Given the description of an element on the screen output the (x, y) to click on. 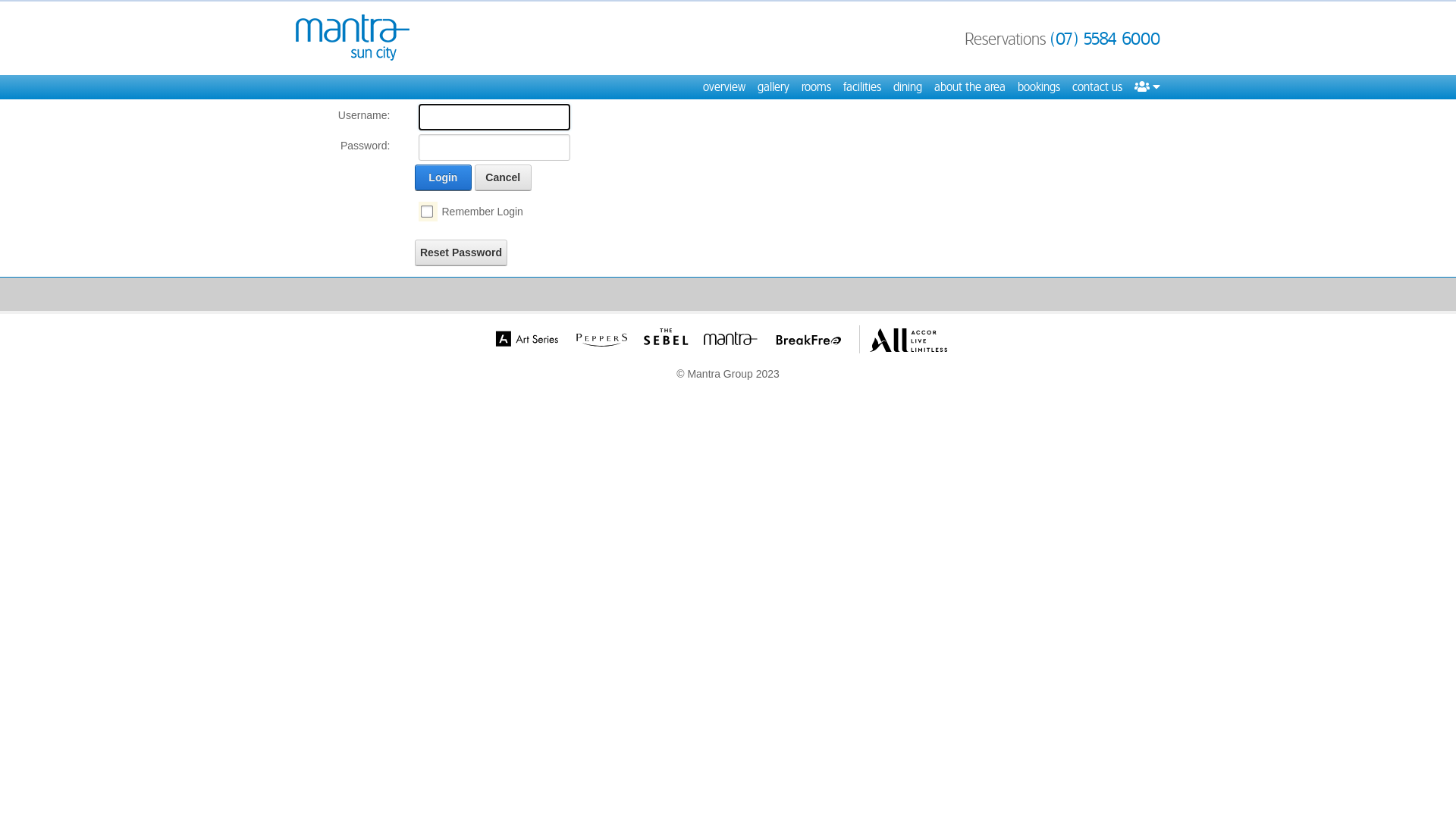
gallery Element type: text (773, 87)
about the area Element type: text (969, 87)
bookings Element type: text (1038, 87)
Reset Password Element type: text (460, 252)
contact us Element type: text (1097, 87)
Mantra Sun City Element type: hover (352, 37)
overview Element type: text (723, 87)
Cancel Element type: text (502, 177)
(07) 5584 6000 Element type: text (1105, 38)
facilities Element type: text (862, 87)
Login Element type: text (442, 177)
rooms Element type: text (816, 87)
dining Element type: text (907, 87)
